Given the description of an element on the screen output the (x, y) to click on. 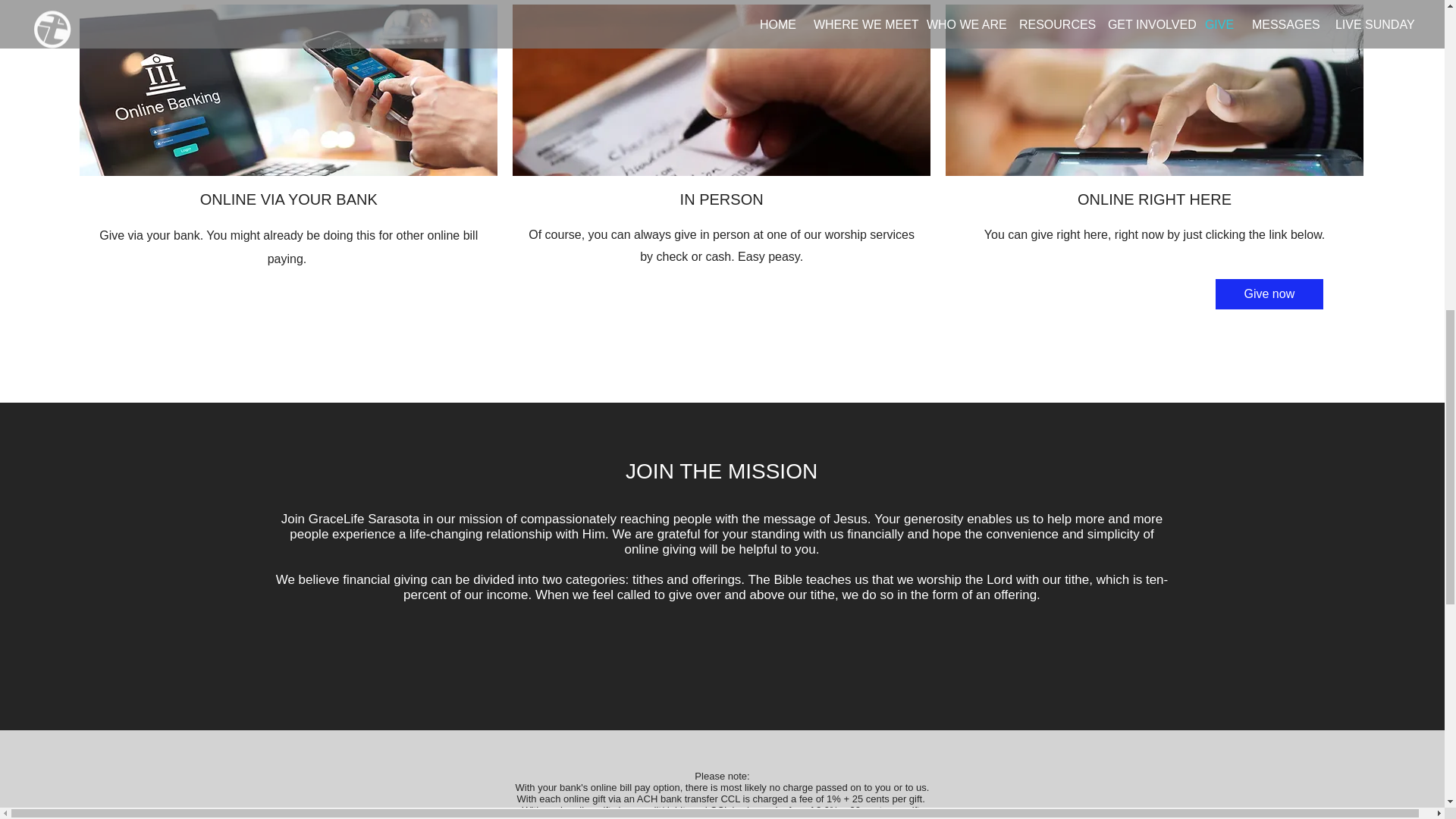
Give now (1269, 294)
